Given the description of an element on the screen output the (x, y) to click on. 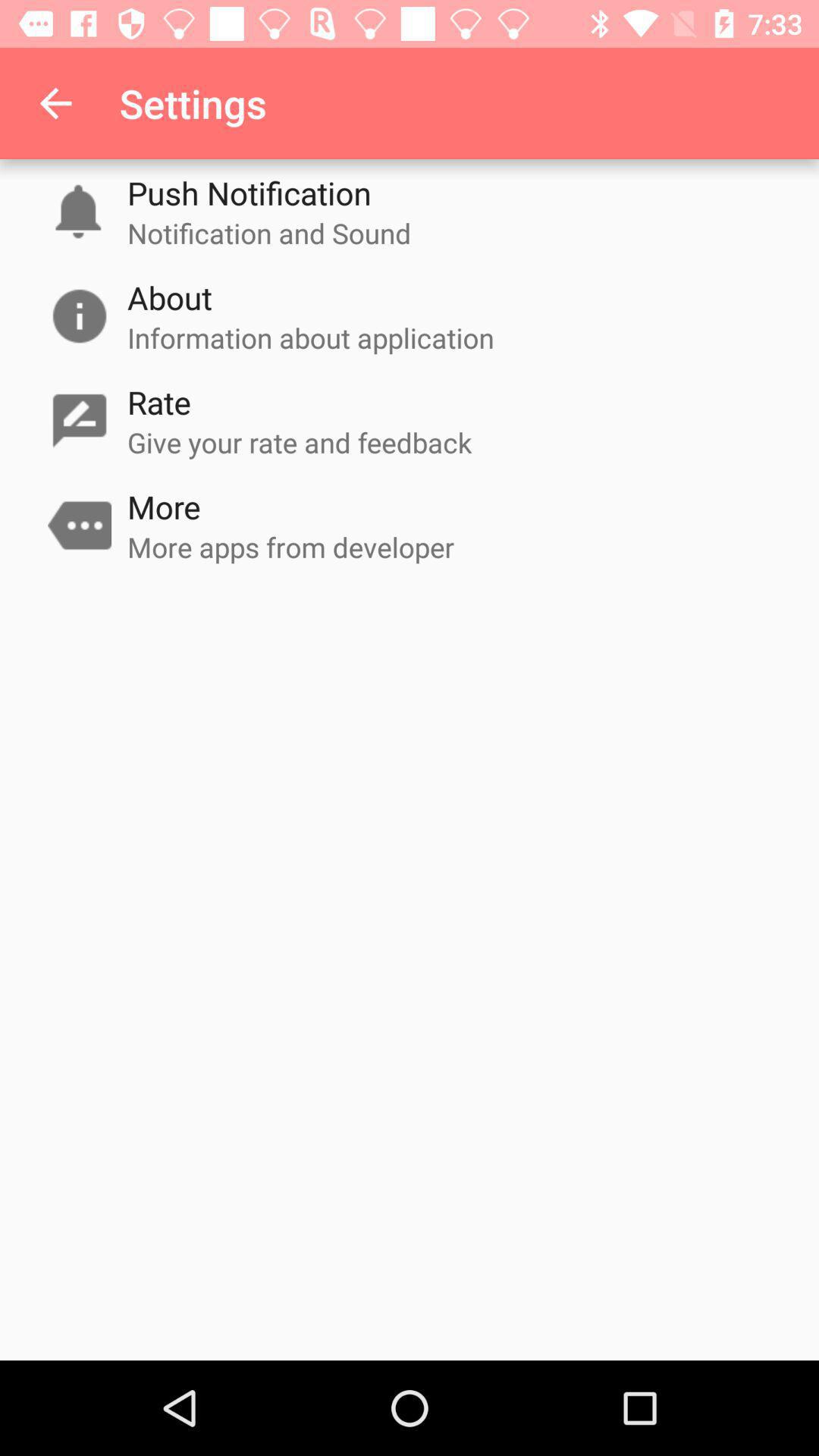
tap the give your rate (299, 442)
